Given the description of an element on the screen output the (x, y) to click on. 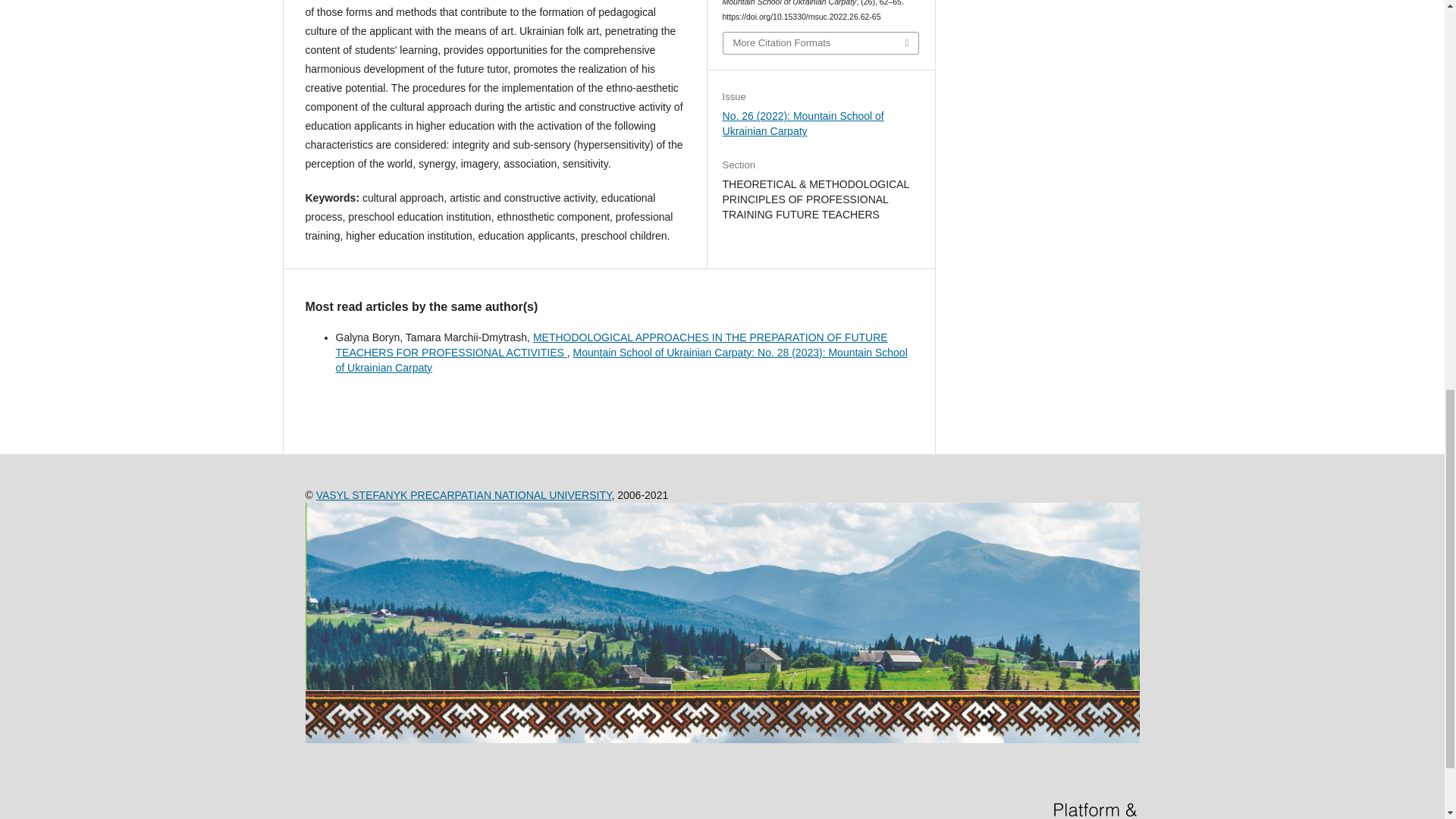
More Citation Formats (820, 43)
